Given the description of an element on the screen output the (x, y) to click on. 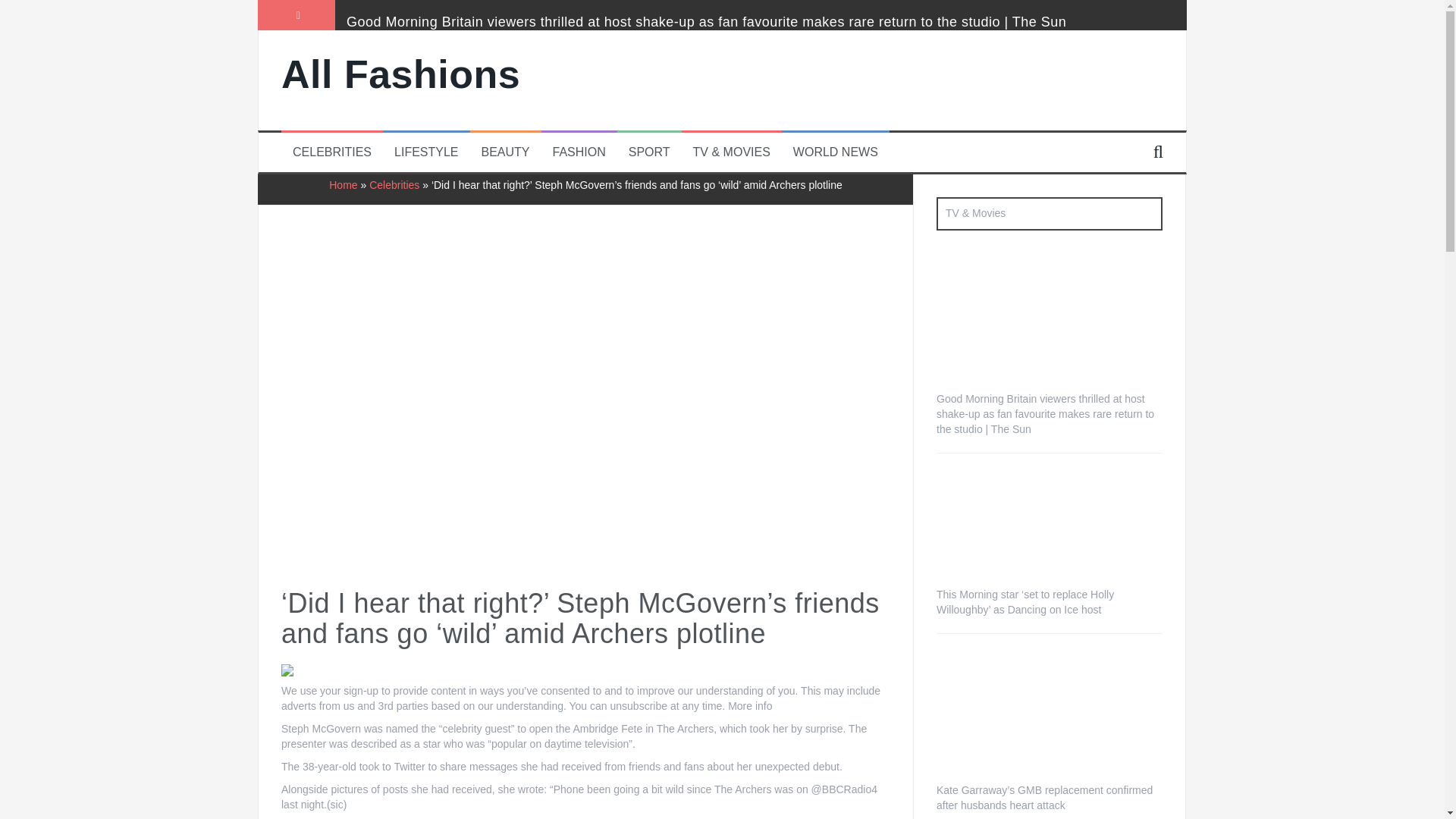
CELEBRITIES (331, 152)
All Fashions (400, 74)
Celebrities (394, 184)
WORLD NEWS (835, 152)
BEAUTY (505, 152)
Home (342, 184)
LIFESTYLE (426, 152)
SPORT (648, 152)
FASHION (579, 152)
